Given the description of an element on the screen output the (x, y) to click on. 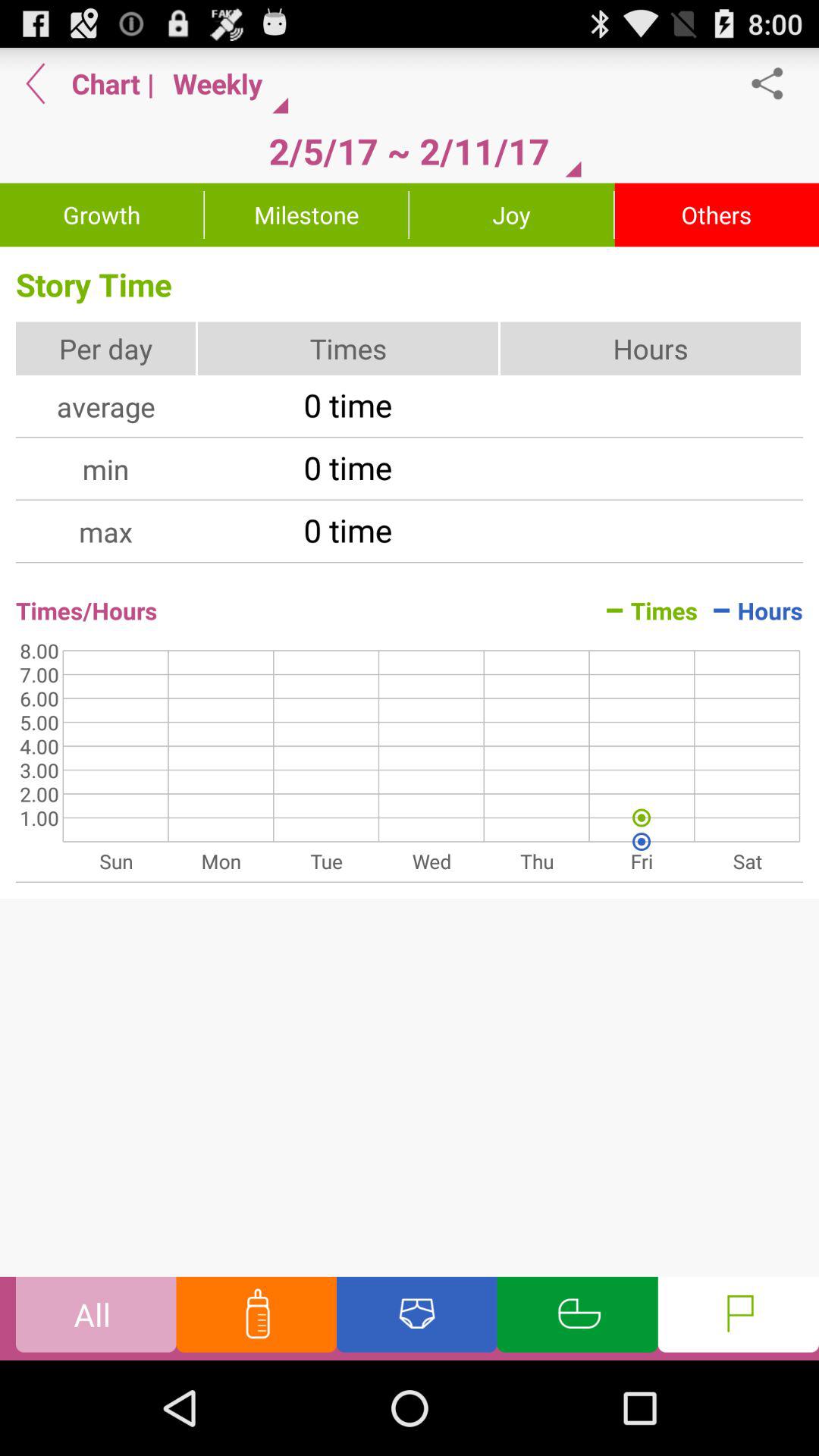
tap the weekly button (224, 83)
